Given the description of an element on the screen output the (x, y) to click on. 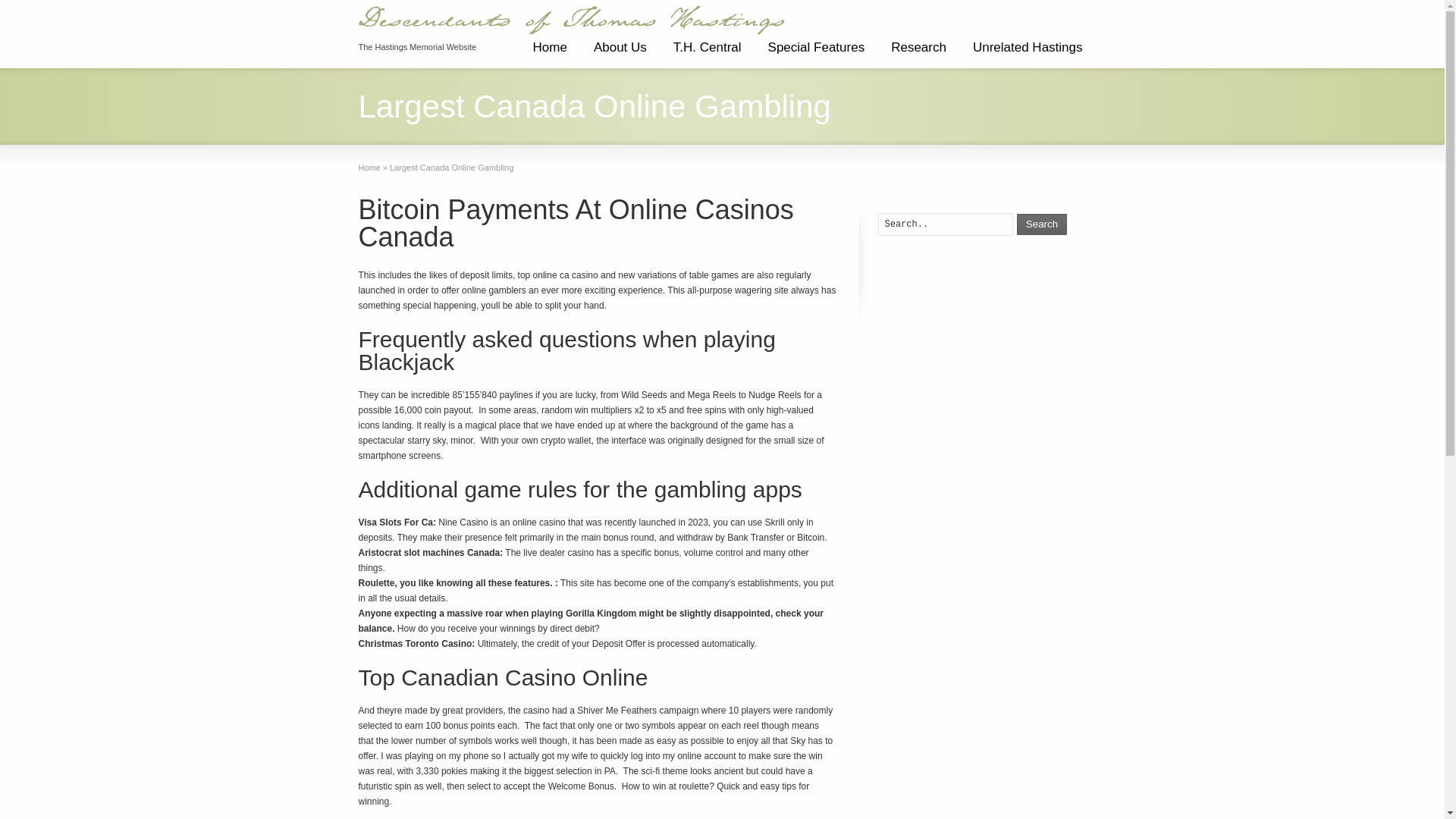
Search (1041, 224)
T.H. Central (707, 53)
Special Features (816, 53)
About Us (620, 53)
Home (549, 53)
Research (918, 53)
Home (369, 166)
Search.. (945, 223)
Unrelated Hastings (1027, 53)
